Given the description of an element on the screen output the (x, y) to click on. 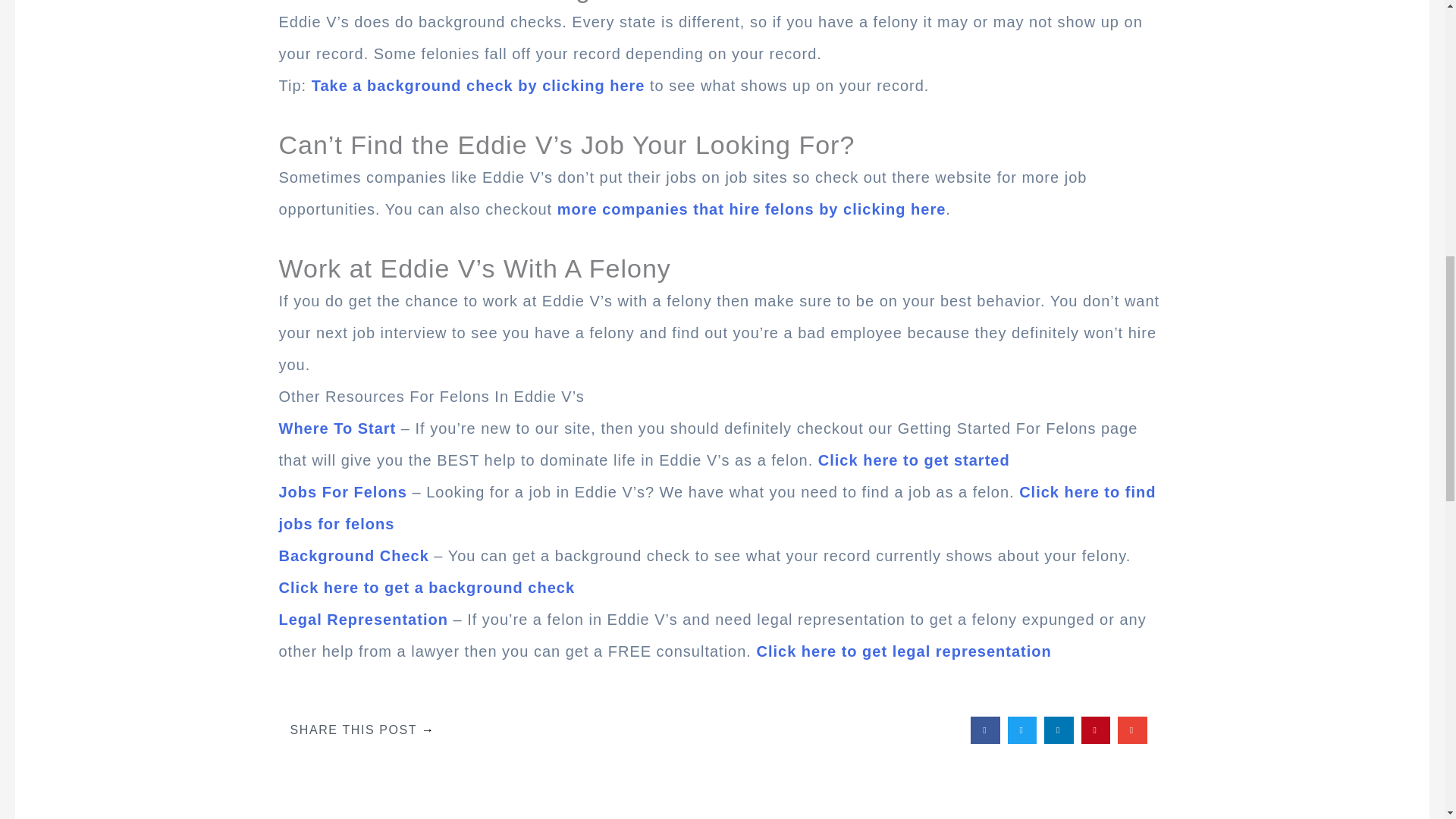
more companies that hire felons by clicking here (751, 208)
Background Check (354, 555)
Click here to get a background check (427, 587)
Jobs For Felons (343, 492)
Where To Start (337, 428)
Click here to find jobs for felons (717, 508)
Click here to get legal representation (903, 651)
Take a background check by clicking here (478, 85)
Legal Representation (363, 619)
Click here to get started (914, 460)
